Given the description of an element on the screen output the (x, y) to click on. 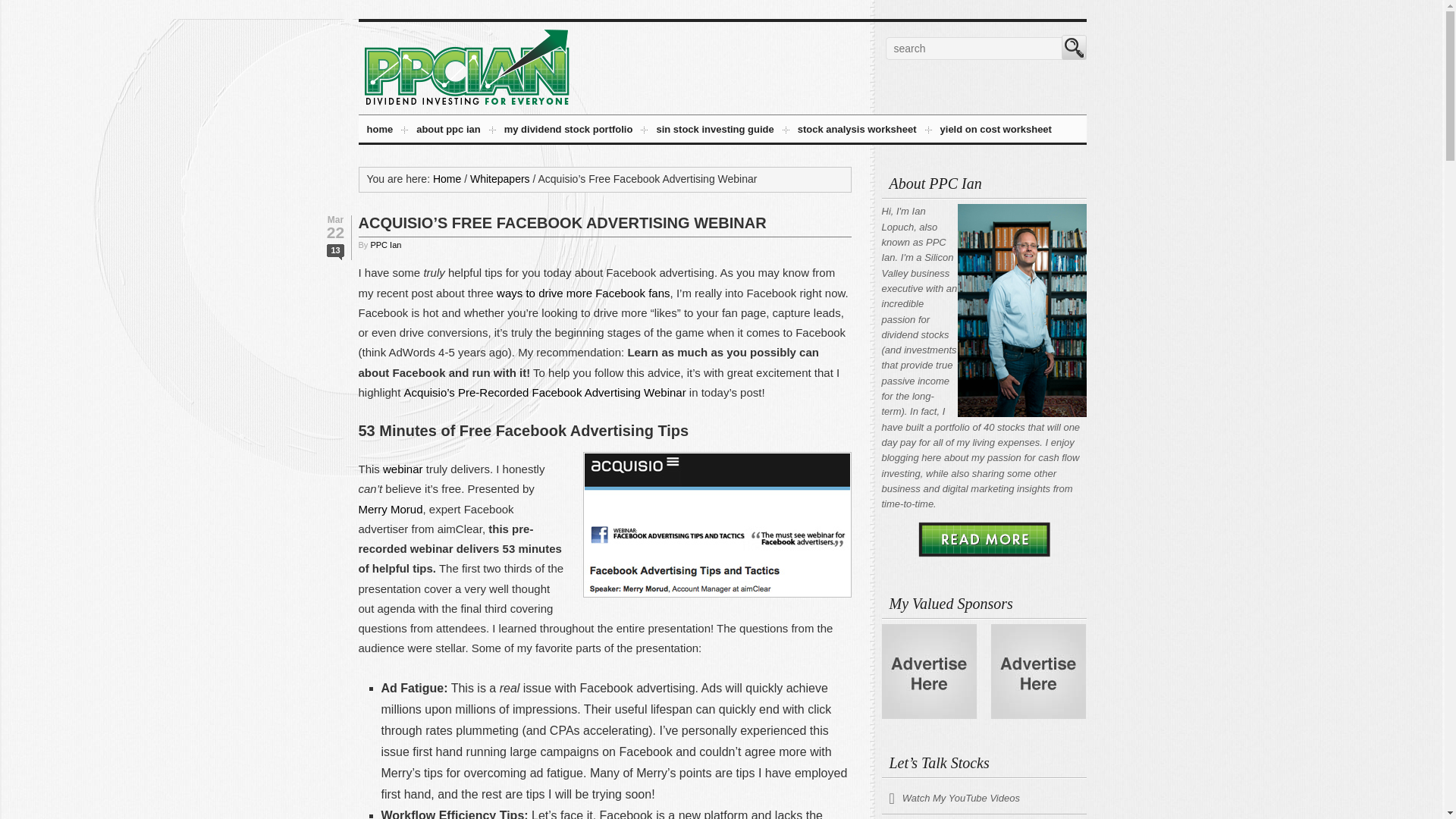
sin stock investing guide (714, 131)
ways to drive more Facebook fans (582, 292)
stock analysis worksheet (857, 131)
Search (1073, 47)
yield on cost worksheet (995, 131)
Search (1073, 47)
webinar (402, 468)
Home (446, 178)
Acquisio Facebook Webinar (716, 524)
PPC Ian (465, 104)
13 (334, 252)
PPC Ian (465, 66)
PPC Ian (385, 244)
my dividend stock portfolio (568, 131)
Merry Morud (390, 508)
